Given the description of an element on the screen output the (x, y) to click on. 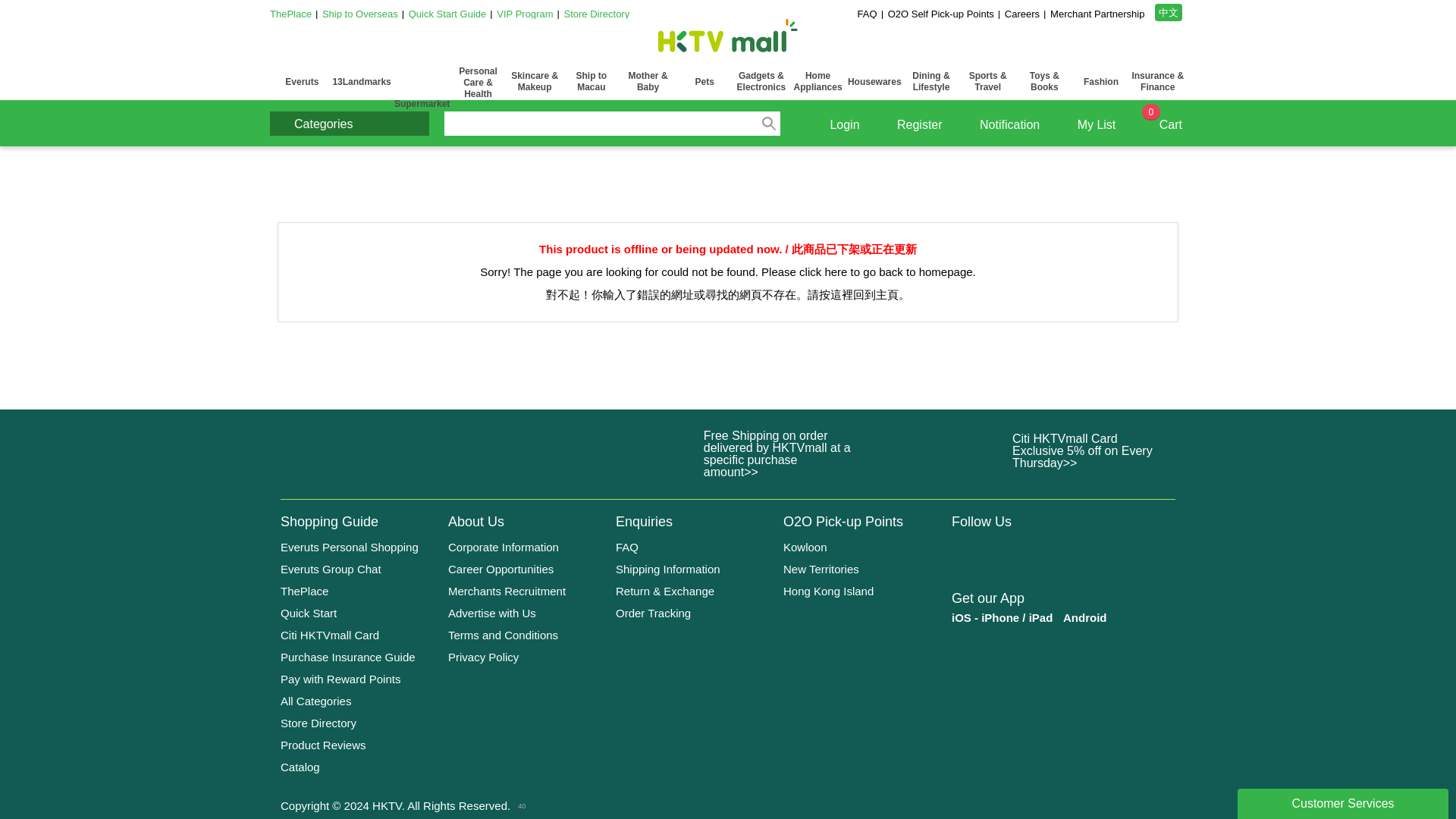
13Landmarks (361, 81)
Home Appliances (817, 81)
ThePlace (290, 13)
Categories (349, 123)
Careers (1021, 13)
Merchant Partnership (1096, 13)
Housewares (874, 81)
Ship to Macau (591, 81)
Supermarket (421, 81)
O2O Self Pick-up Points (941, 13)
